Given the description of an element on the screen output the (x, y) to click on. 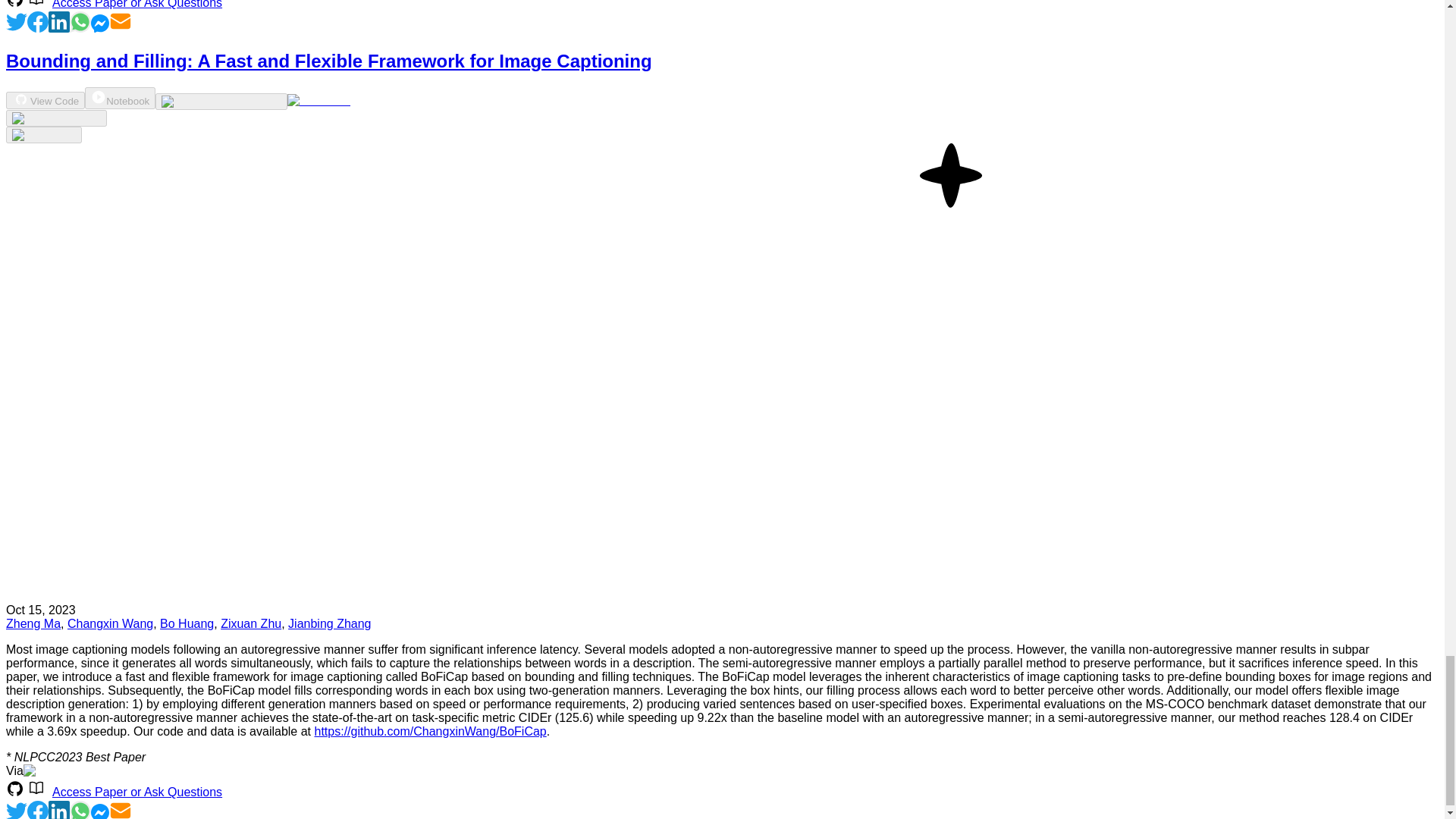
Share via Email (120, 28)
Send via Messenger (99, 28)
